Given the description of an element on the screen output the (x, y) to click on. 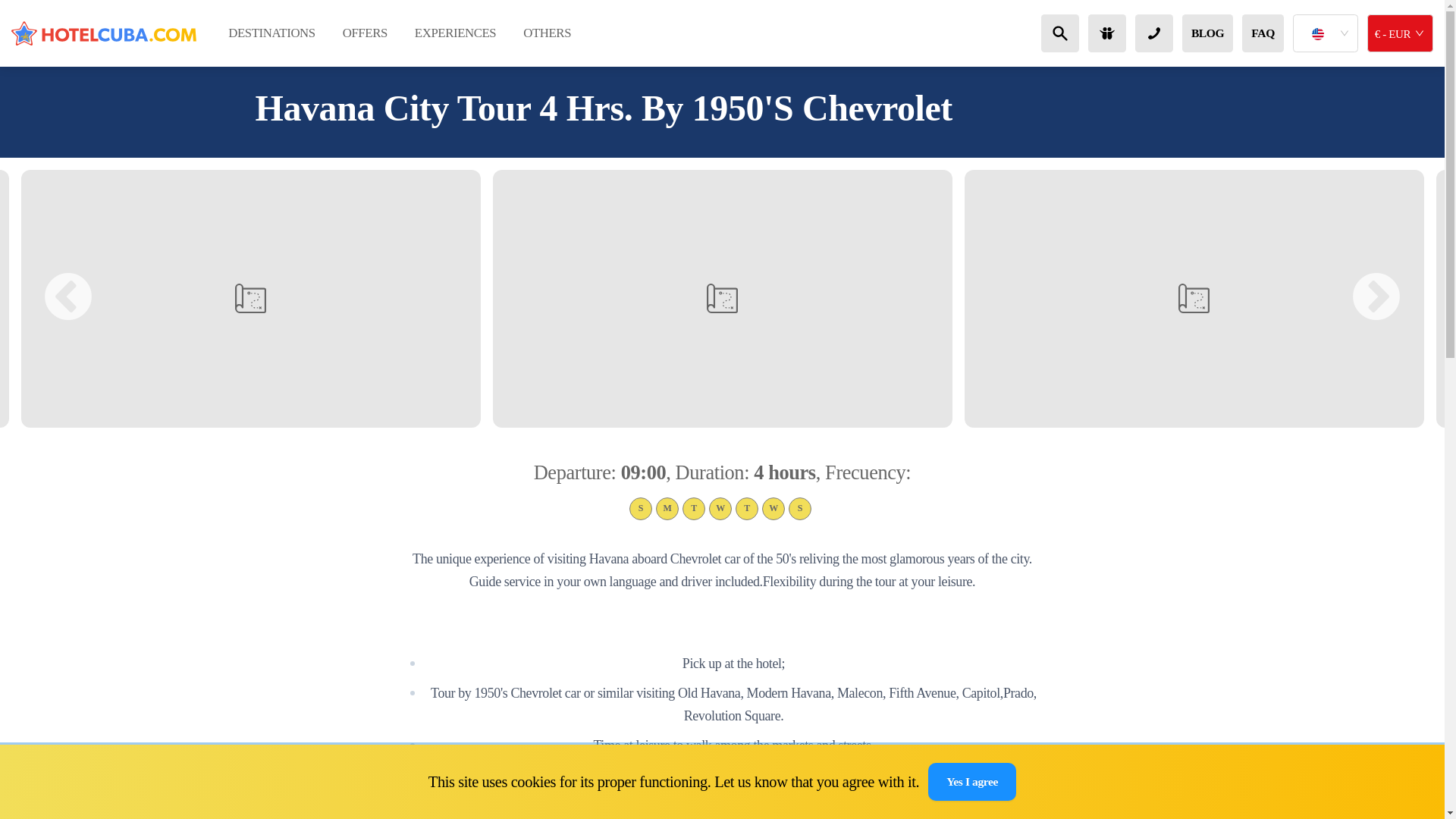
photos0 (722, 298)
Next (1375, 298)
FAQ (1262, 33)
Yes I agree (972, 781)
photos1 (1193, 298)
DESTINATIONS (271, 33)
EXPERIENCES (455, 33)
OTHERS (547, 33)
BLOG (1207, 33)
photos12 (250, 298)
Previous (68, 298)
OFFERS (365, 33)
